Given the description of an element on the screen output the (x, y) to click on. 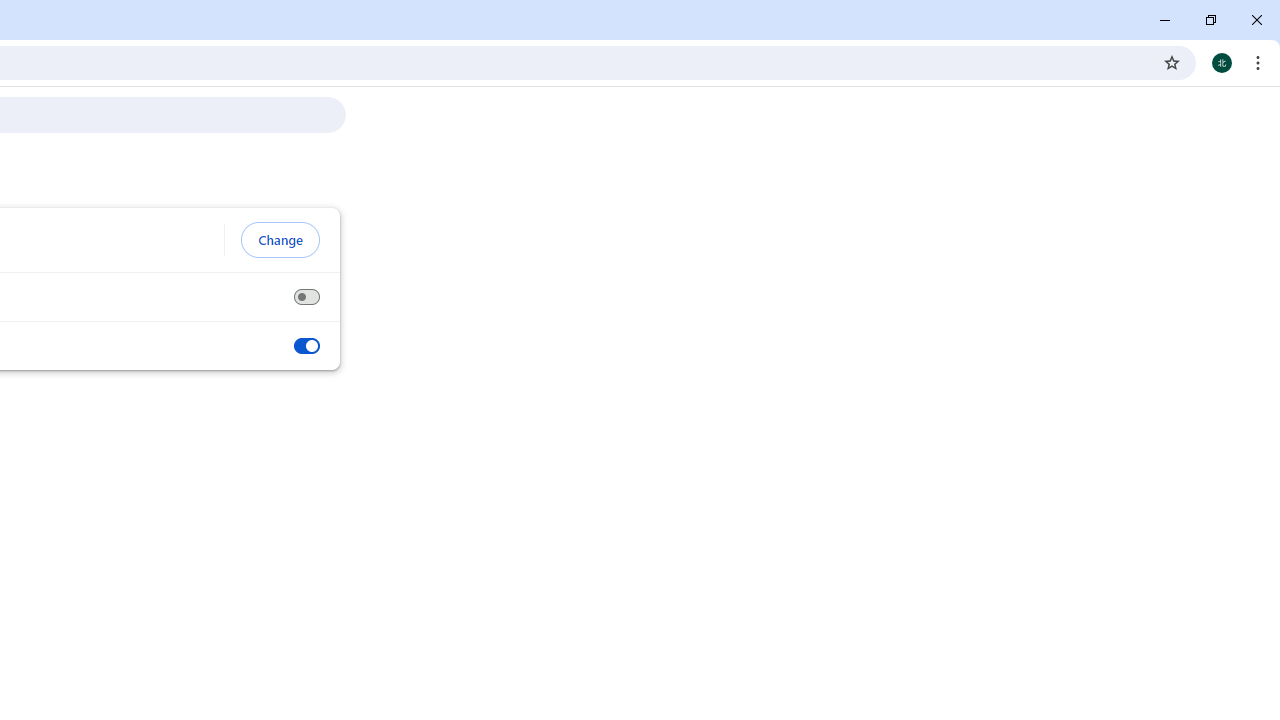
Change (280, 240)
Ask where to save each file before downloading (306, 297)
Show downloads when they're done (306, 345)
